Given the description of an element on the screen output the (x, y) to click on. 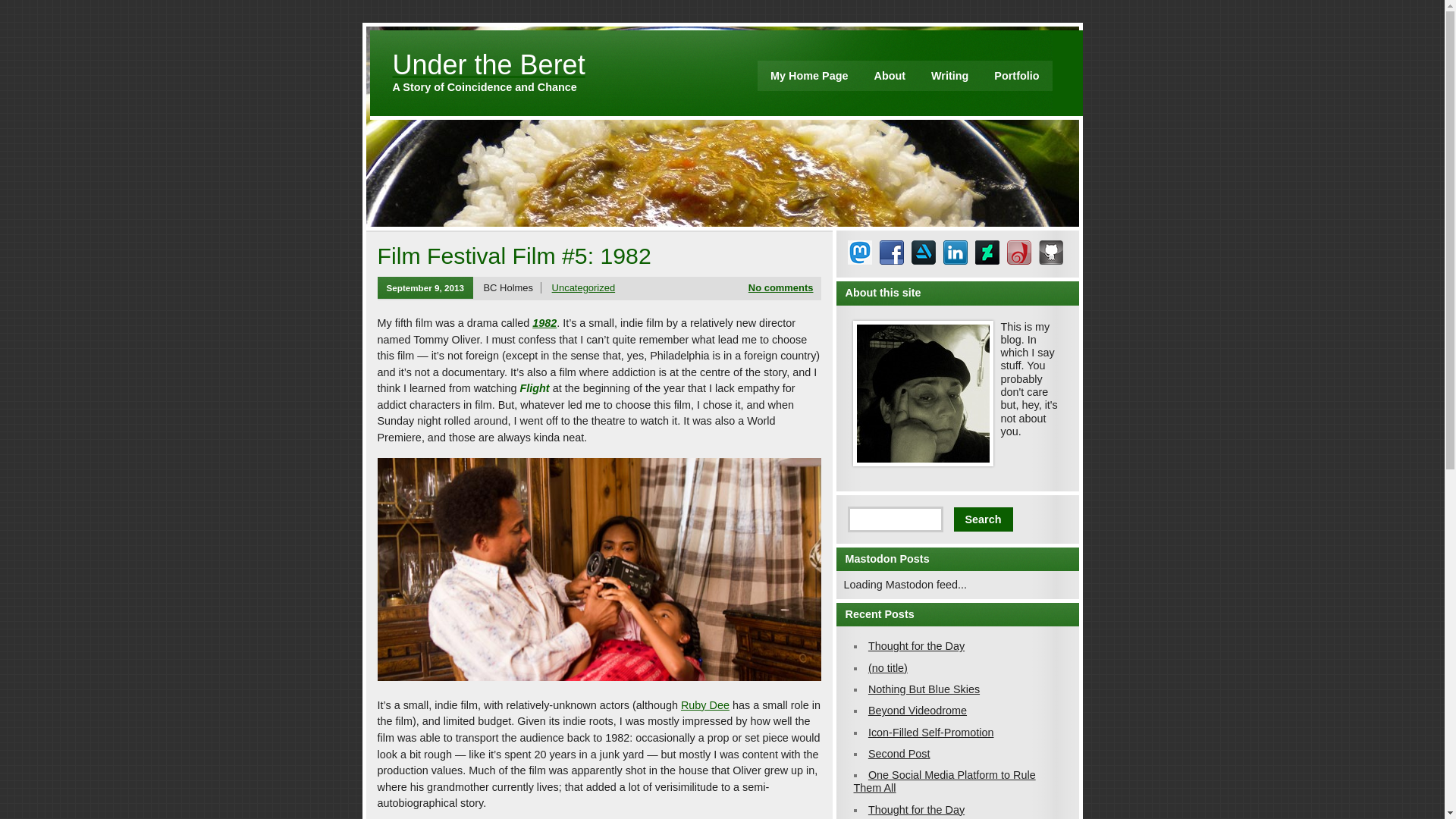
Icon-Filled Self-Promotion (930, 732)
About (889, 75)
ArtStation (923, 252)
Search (983, 518)
Under the Beret (489, 65)
Thought for the Day (915, 809)
One Social Media Platform to Rule Them All (944, 781)
Uncategorized (583, 287)
Ruby Dee (705, 705)
Beyond Videodrome (916, 710)
September 9, 2013 (425, 287)
Search (983, 518)
Second Post (898, 753)
My Home Page (808, 75)
Thought for the Day (915, 645)
